Given the description of an element on the screen output the (x, y) to click on. 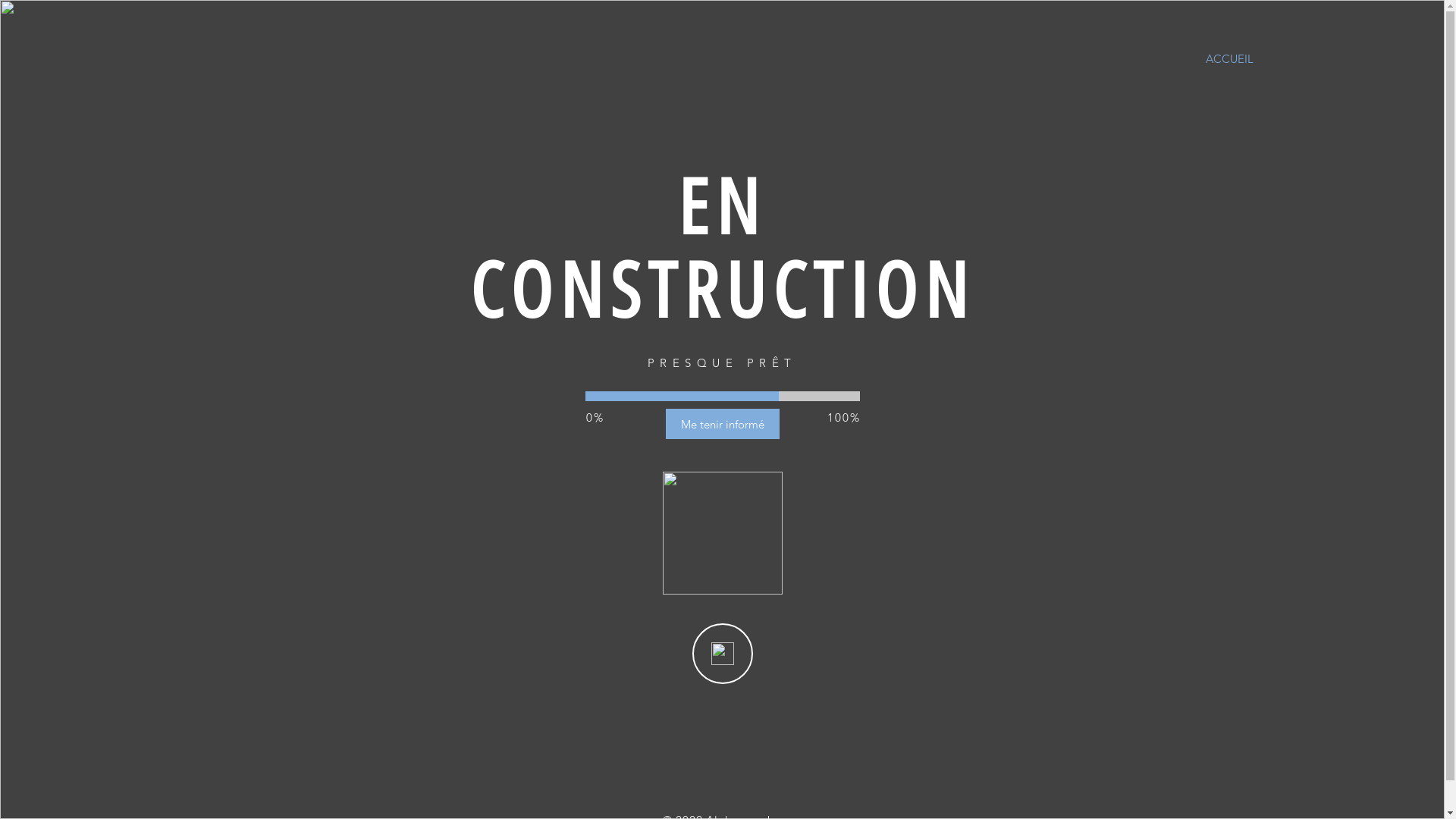
ACCUEIL Element type: text (1229, 59)
EnjoyTheSilence copie.png Element type: hover (722, 532)
TWIPLA (Visitor Analytics) Element type: hover (475, 693)
